Given the description of an element on the screen output the (x, y) to click on. 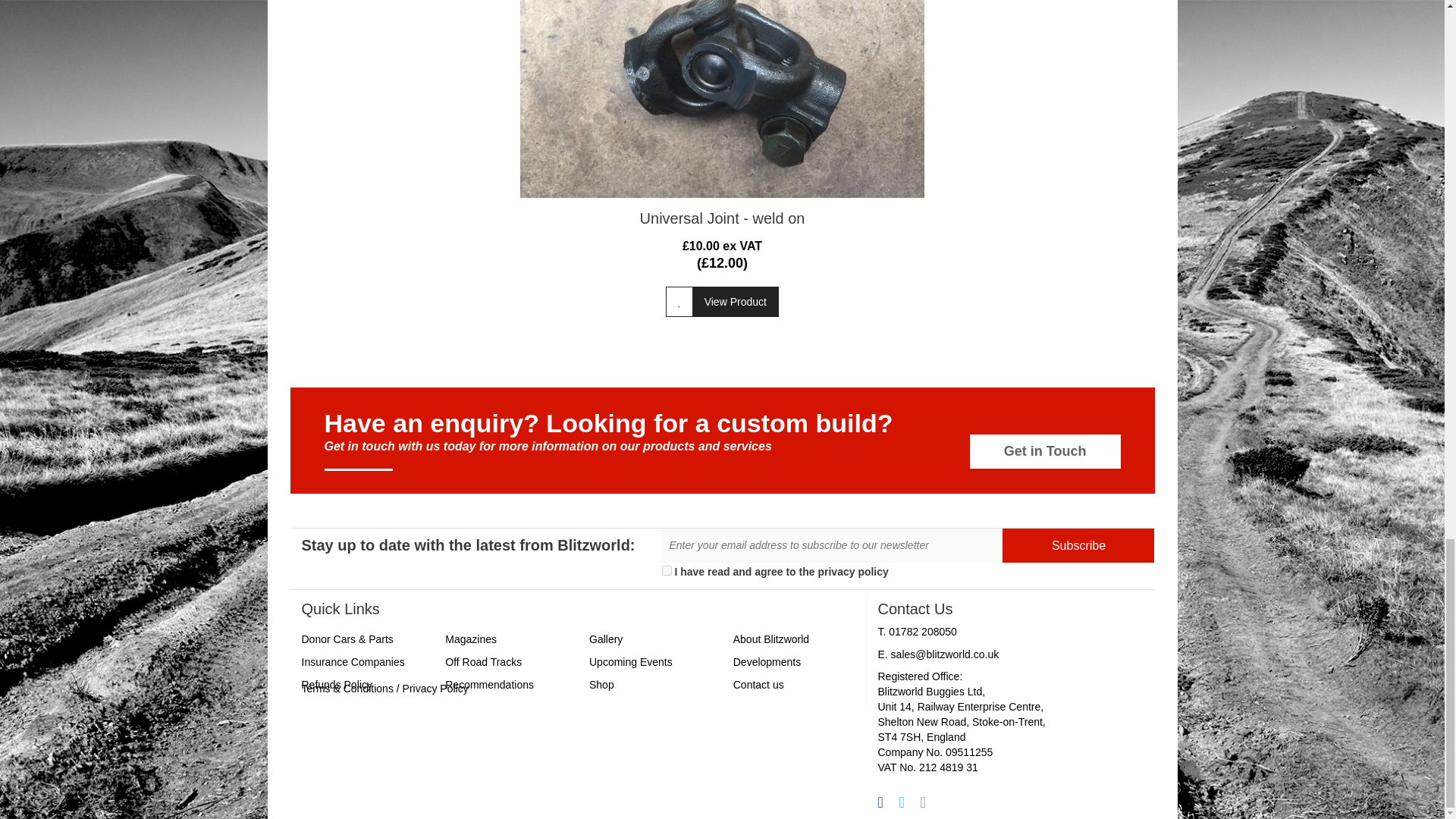
Subscribe (1078, 545)
Universal Joint - weld on (721, 99)
1 (666, 570)
Add to Wish List (679, 301)
